Given the description of an element on the screen output the (x, y) to click on. 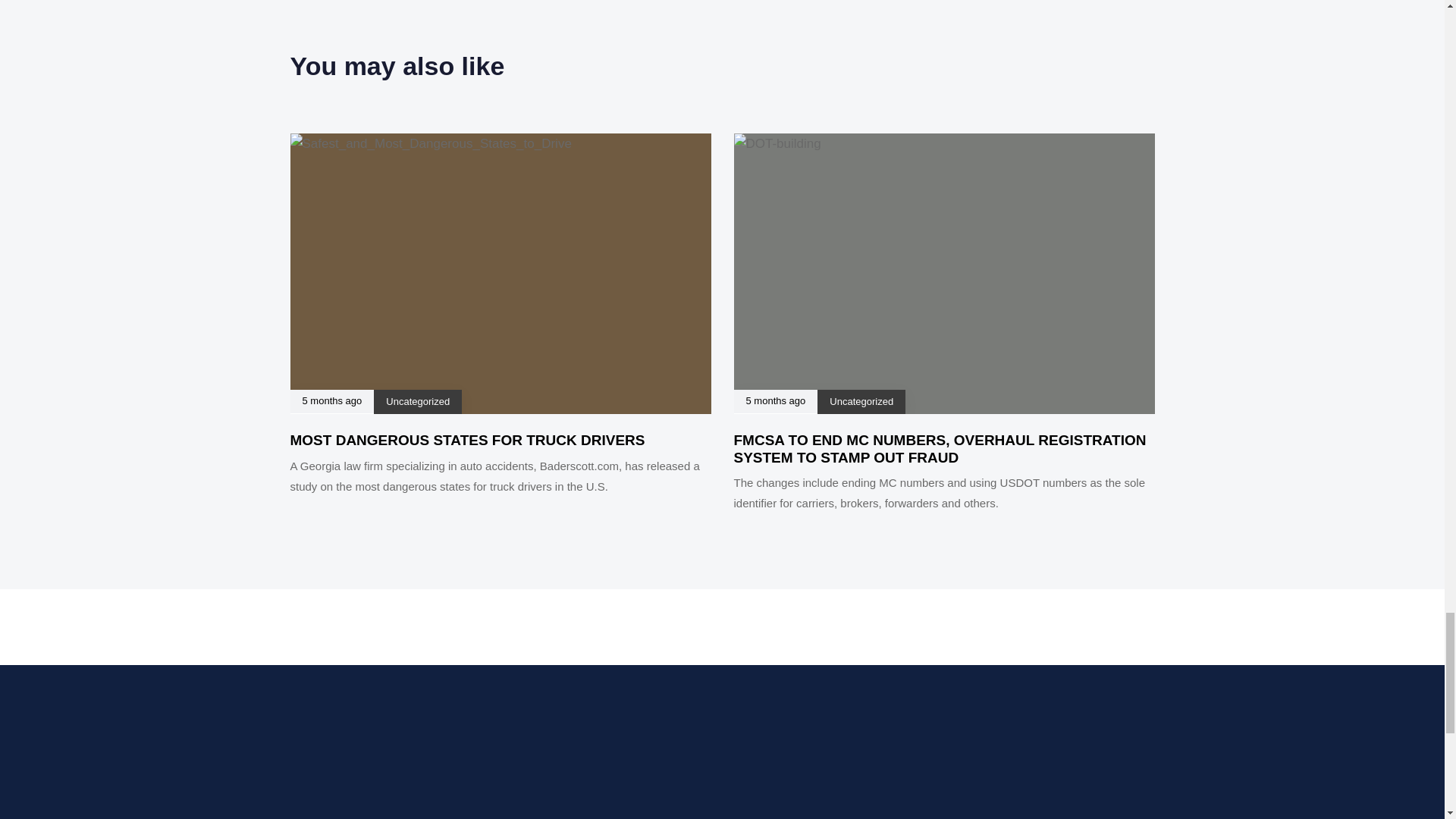
MOST DANGEROUS STATES FOR TRUCK DRIVERS (467, 439)
Uncategorized (861, 401)
Uncategorized (417, 401)
